Given the description of an element on the screen output the (x, y) to click on. 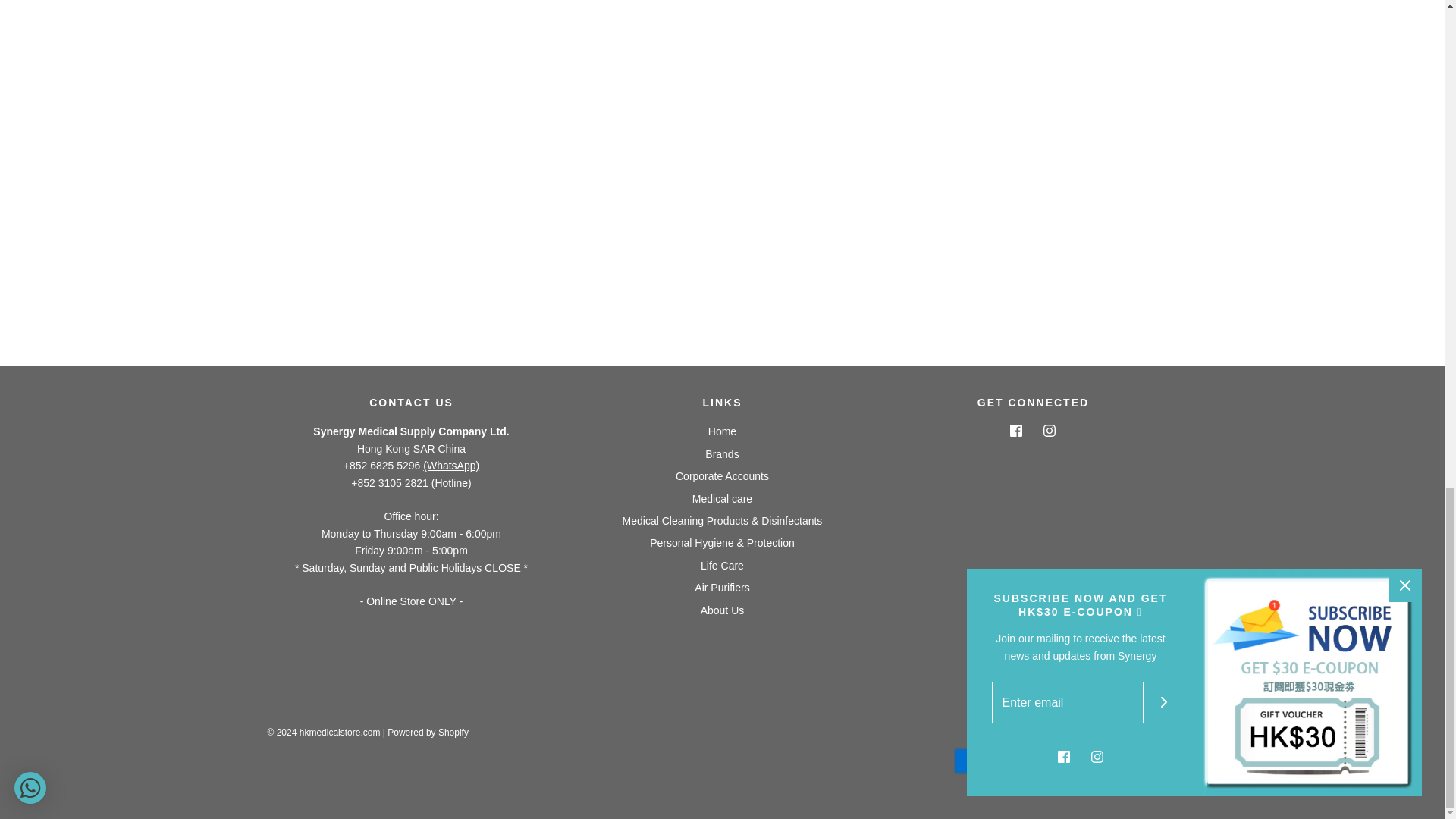
Apple Pay (1019, 761)
Union Pay (1111, 761)
American Express (974, 761)
Mastercard (1065, 761)
Visa (1156, 761)
